Given the description of an element on the screen output the (x, y) to click on. 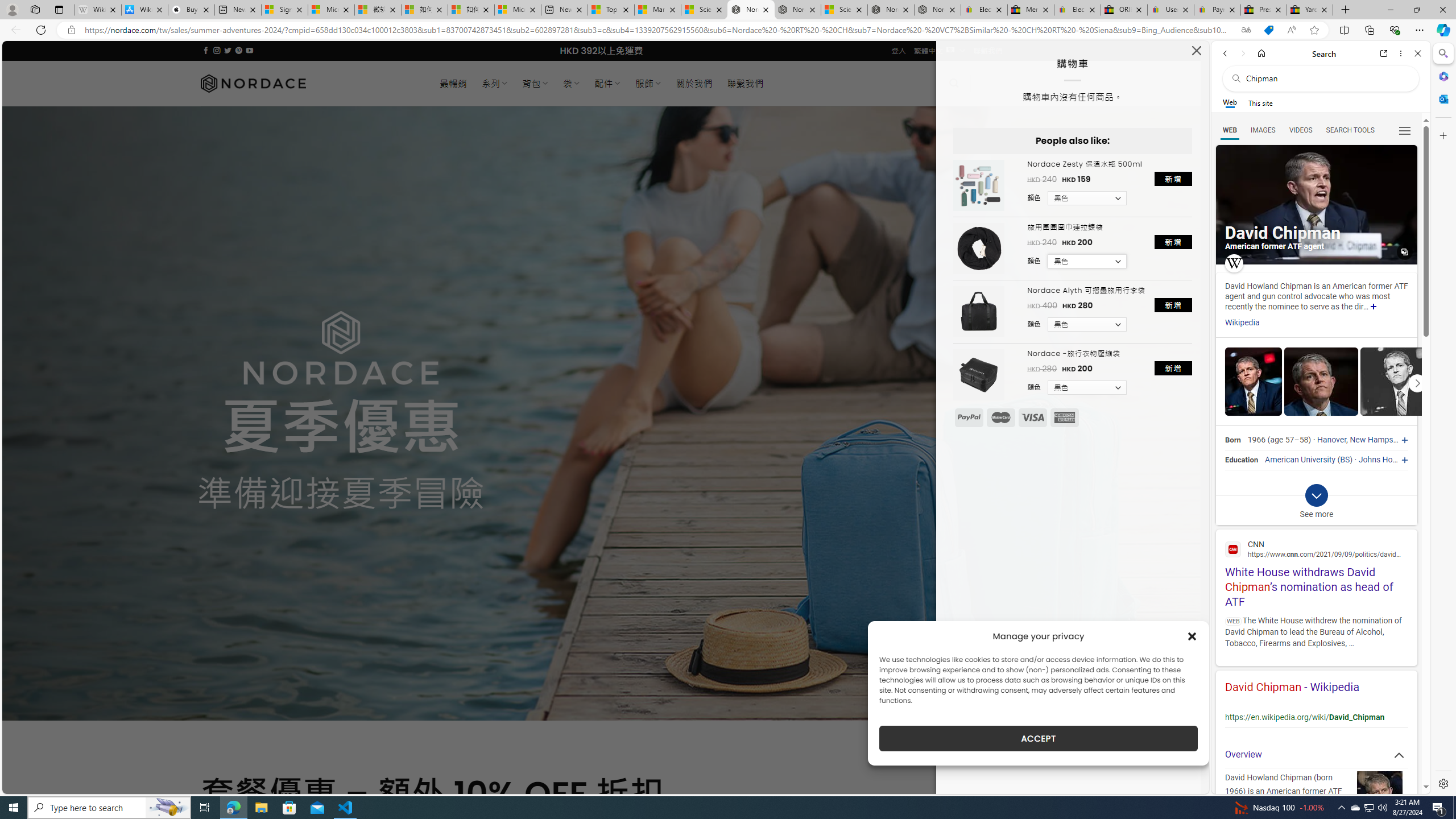
Show more (1373, 307)
Yard, Garden & Outdoor Living (1309, 9)
App bar (728, 29)
Restore (1416, 9)
Sign in to your Microsoft account (284, 9)
Side bar (1443, 418)
IMAGES (1262, 130)
Click to scroll right (1416, 382)
Wikipedia - Sleeping (97, 9)
WEB   (1230, 130)
Press Room - eBay Inc. (1263, 9)
Class: b_serphb (1404, 130)
New Tab (1346, 9)
